Given the description of an element on the screen output the (x, y) to click on. 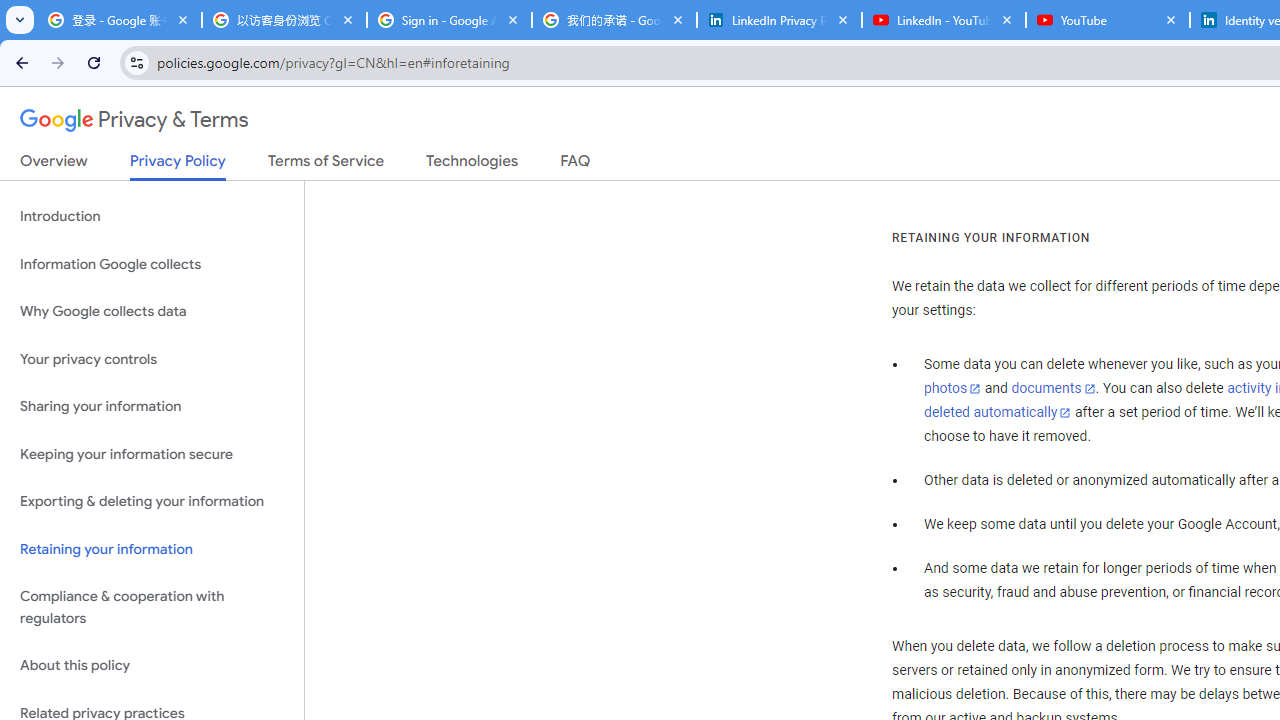
LinkedIn - YouTube (943, 20)
Keeping your information secure (152, 453)
